Given the description of an element on the screen output the (x, y) to click on. 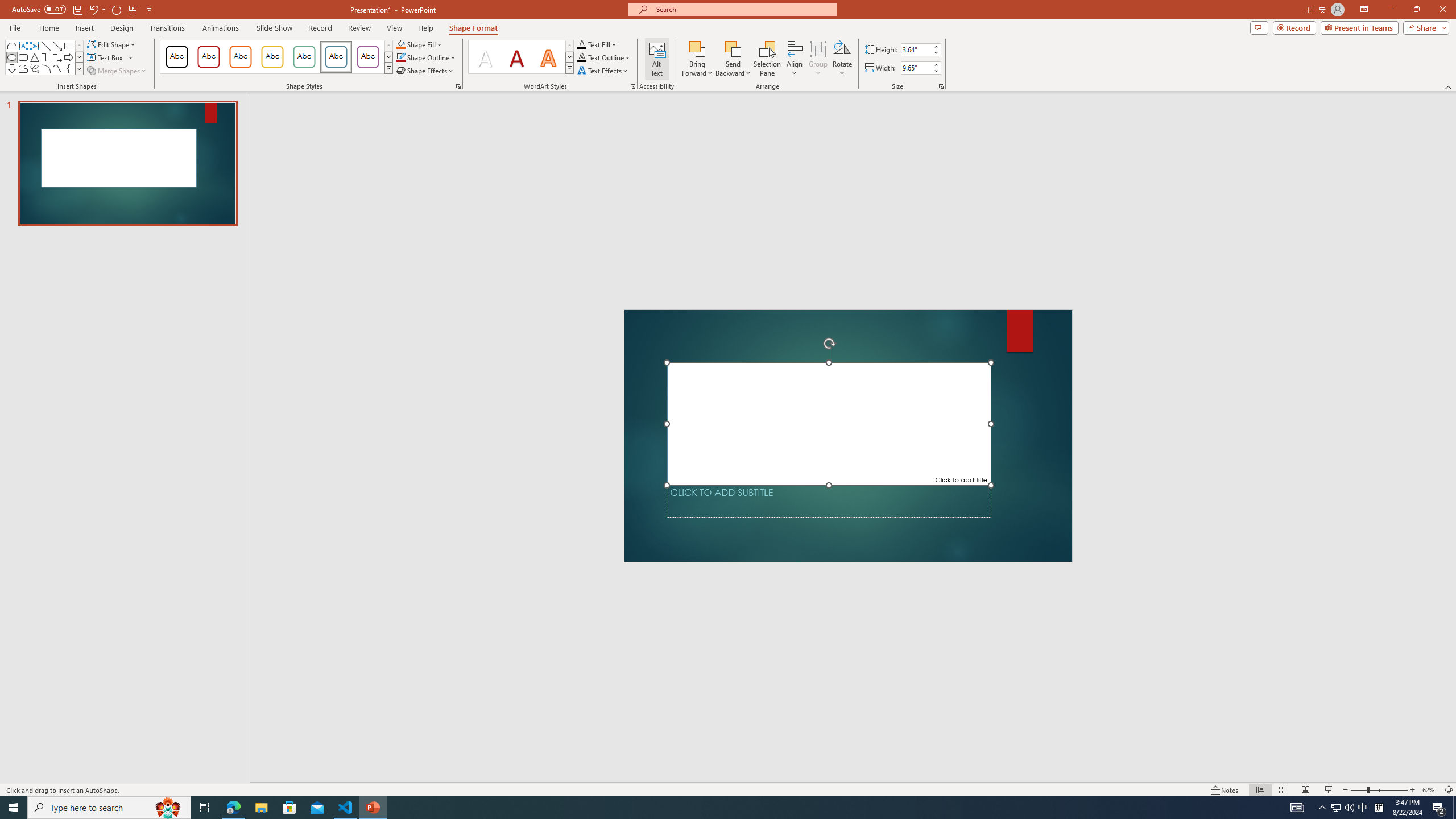
Draw Horizontal Text Box (105, 56)
Freeform: Shape (23, 68)
Text Outline (604, 56)
Rectangle: Top Corners Snipped (11, 45)
Text Outline RGB(0, 0, 0) (581, 56)
